Given the description of an element on the screen output the (x, y) to click on. 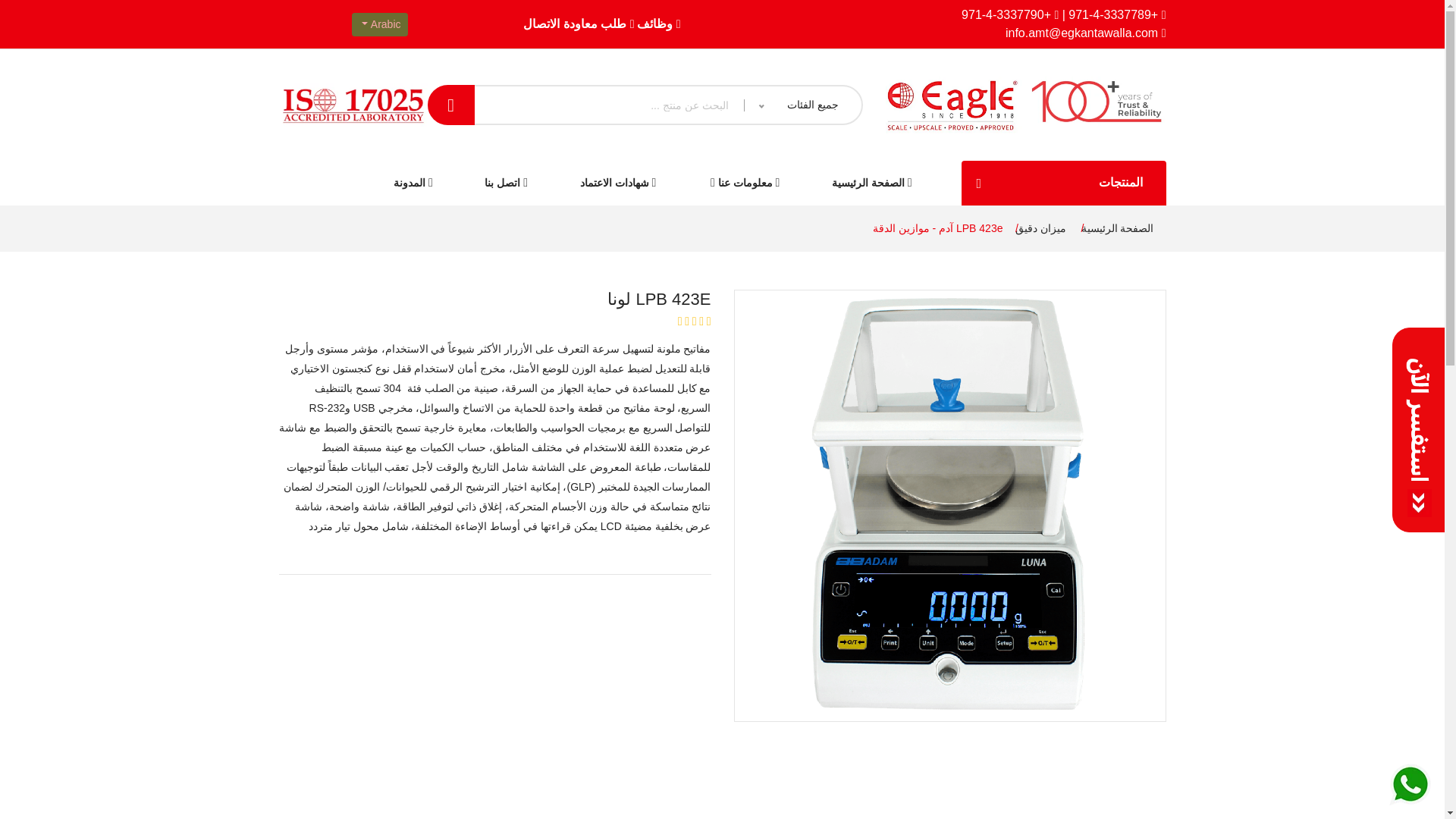
Arabic (379, 24)
